Given the description of an element on the screen output the (x, y) to click on. 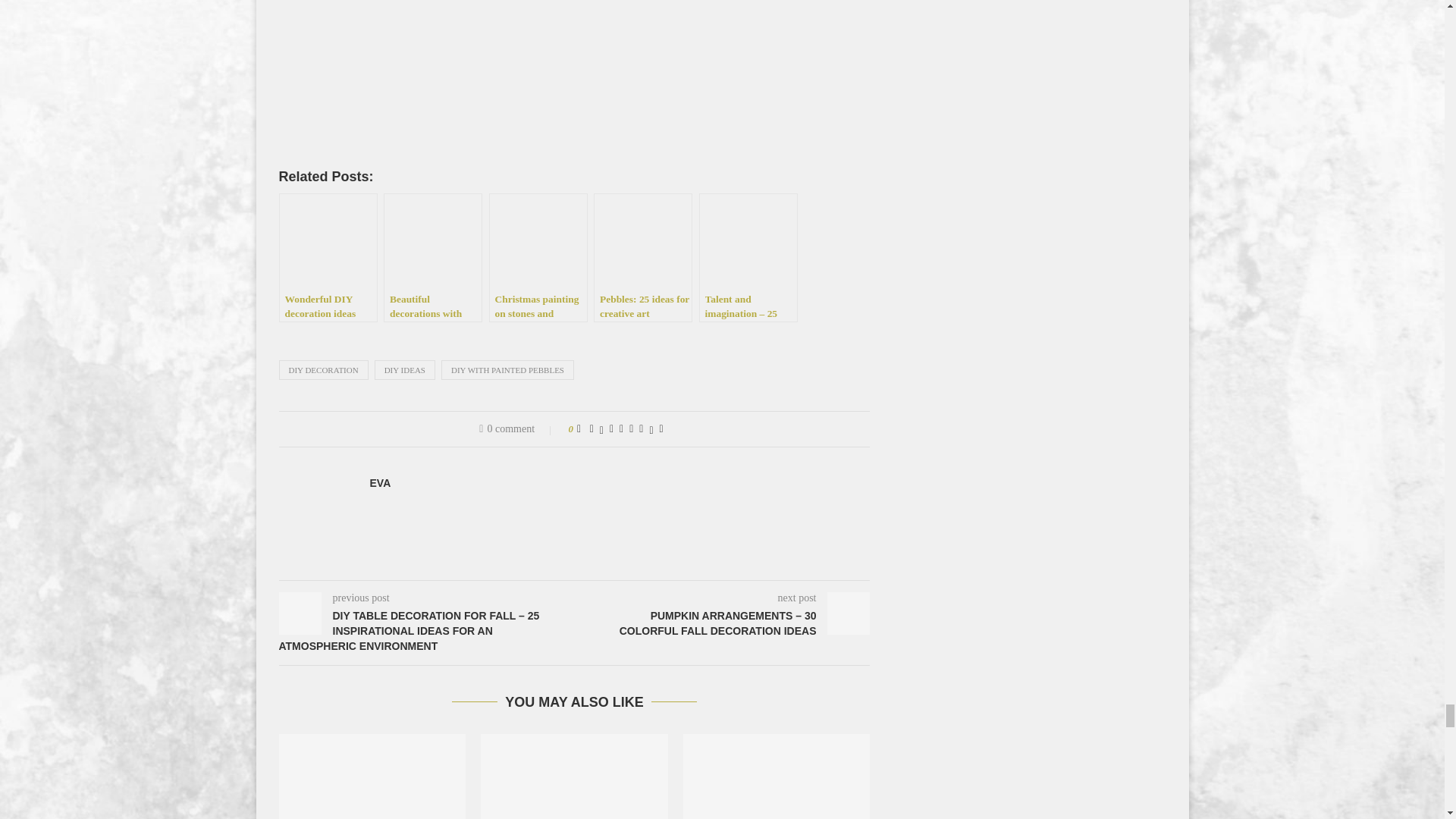
Author Eva (380, 482)
Beautiful decorations with painted stones (432, 257)
Wonderful DIY decoration ideas with painted pebbles (328, 257)
Like (578, 428)
Wonderful DIY decoration ideas with painted pebbles (328, 257)
52 DIY Seashell Decor Ideas That Will Make Your Home Shine (574, 776)
Crafts with Milk Cartons: 34 Ideas and Creative Projects (776, 776)
Pebbles: 25 ideas for creative art inspiration (643, 257)
Beautiful decorations with painted stones (432, 257)
